Given the description of an element on the screen output the (x, y) to click on. 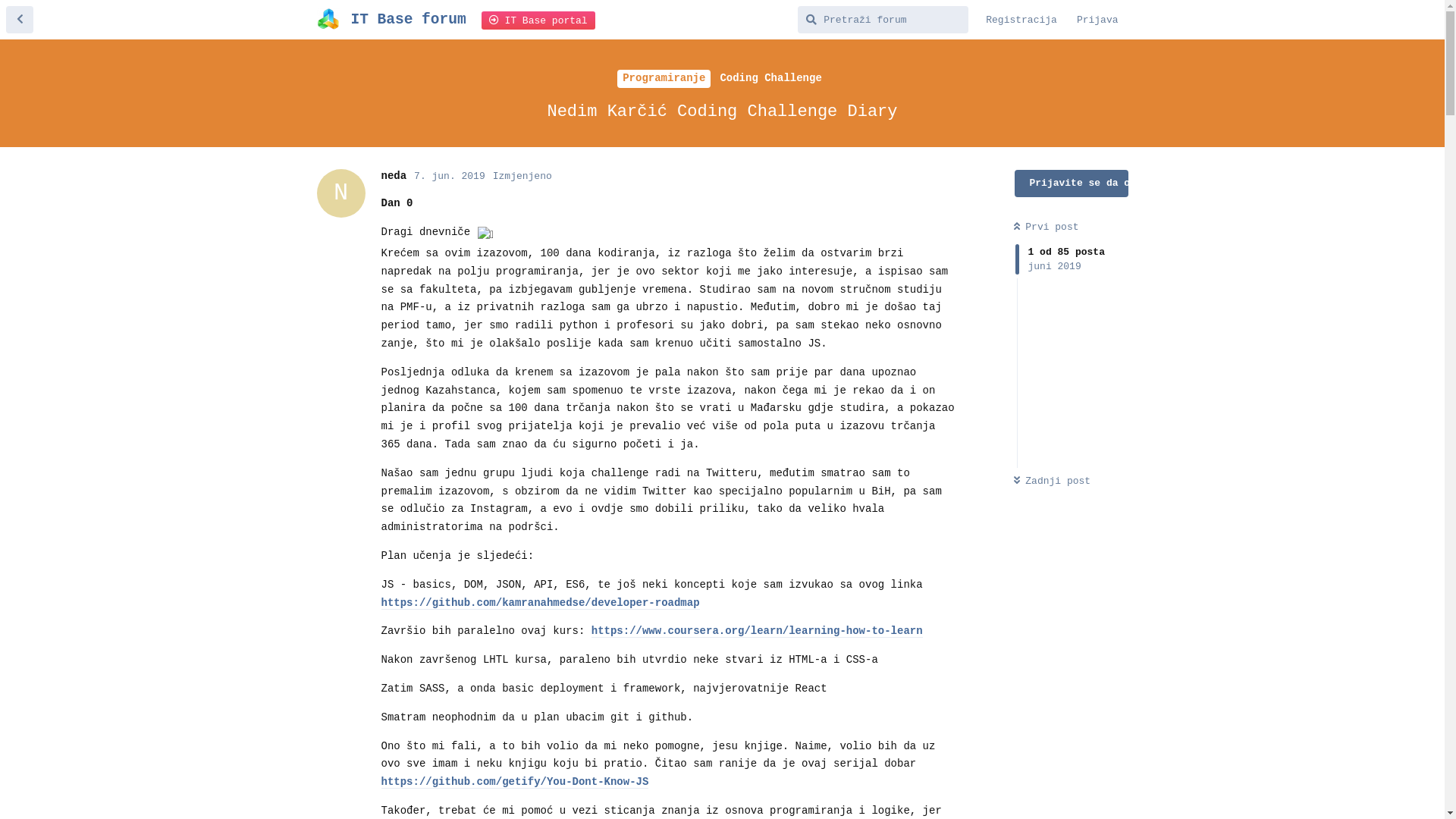
N
neda Element type: text (393, 175)
Zadnji post Element type: text (1051, 480)
Registracija Element type: text (1020, 19)
https://github.com/kamranahmedse/developer-roadmap Element type: text (539, 602)
Prijavite se da odgovorite Element type: text (1071, 183)
https://www.coursera.org/learn/learning-how-to-learn Element type: text (756, 630)
7. jun. 2019 Element type: text (449, 176)
IT Base portal Element type: text (538, 20)
https://github.com/getify/You-Dont-Know-JS Element type: text (514, 781)
Prijava Element type: text (1097, 19)
Programiranje Element type: text (663, 78)
IT Base forum Element type: text (407, 19)
Nazad na listu tema Element type: hover (19, 19)
Prvi post Element type: text (1045, 226)
Coding Challenge Element type: text (770, 78)
